Given the description of an element on the screen output the (x, y) to click on. 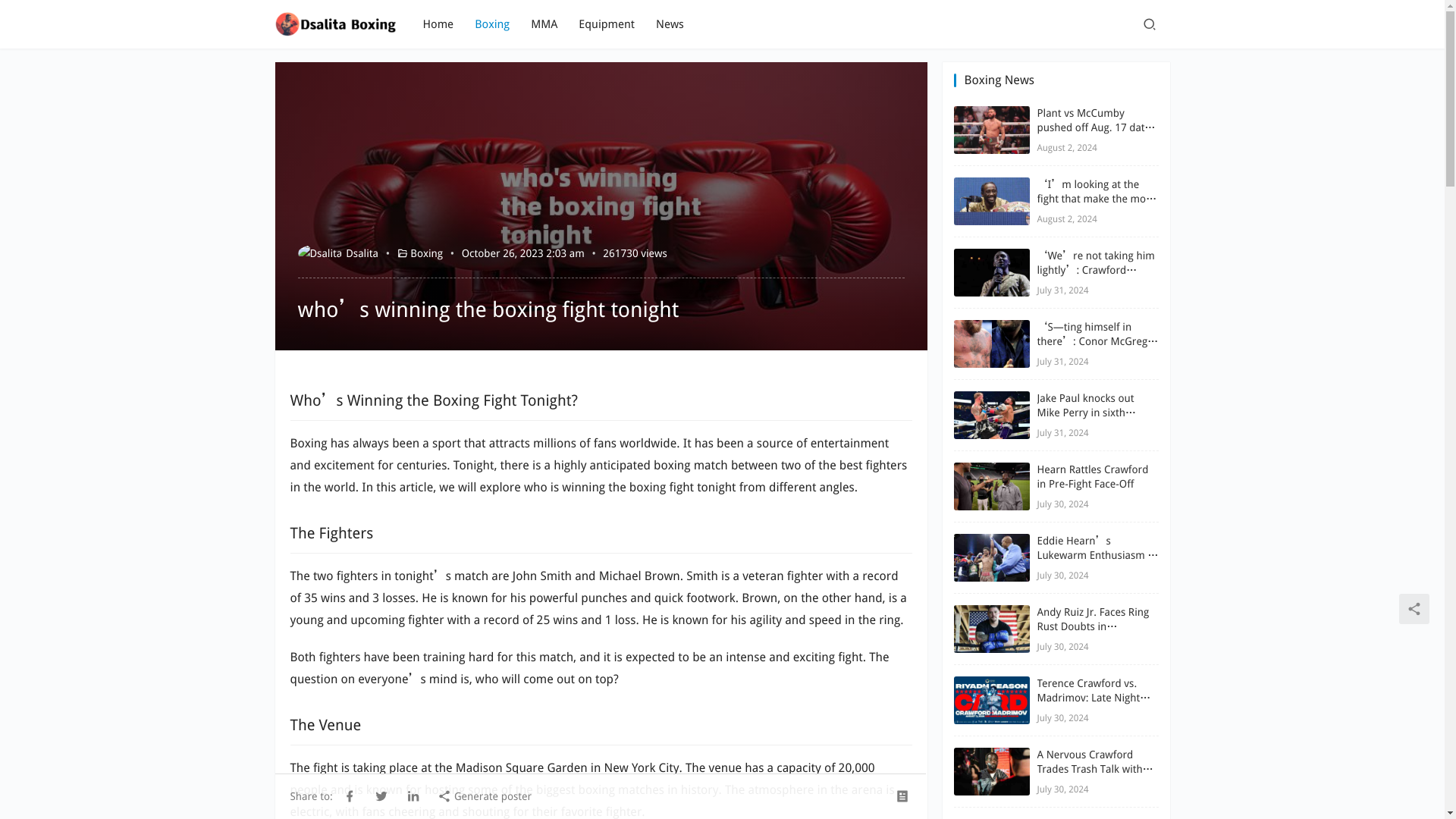
Boxing (426, 253)
Equipment (606, 24)
Generate poster (483, 795)
Dsalita (337, 253)
